Given the description of an element on the screen output the (x, y) to click on. 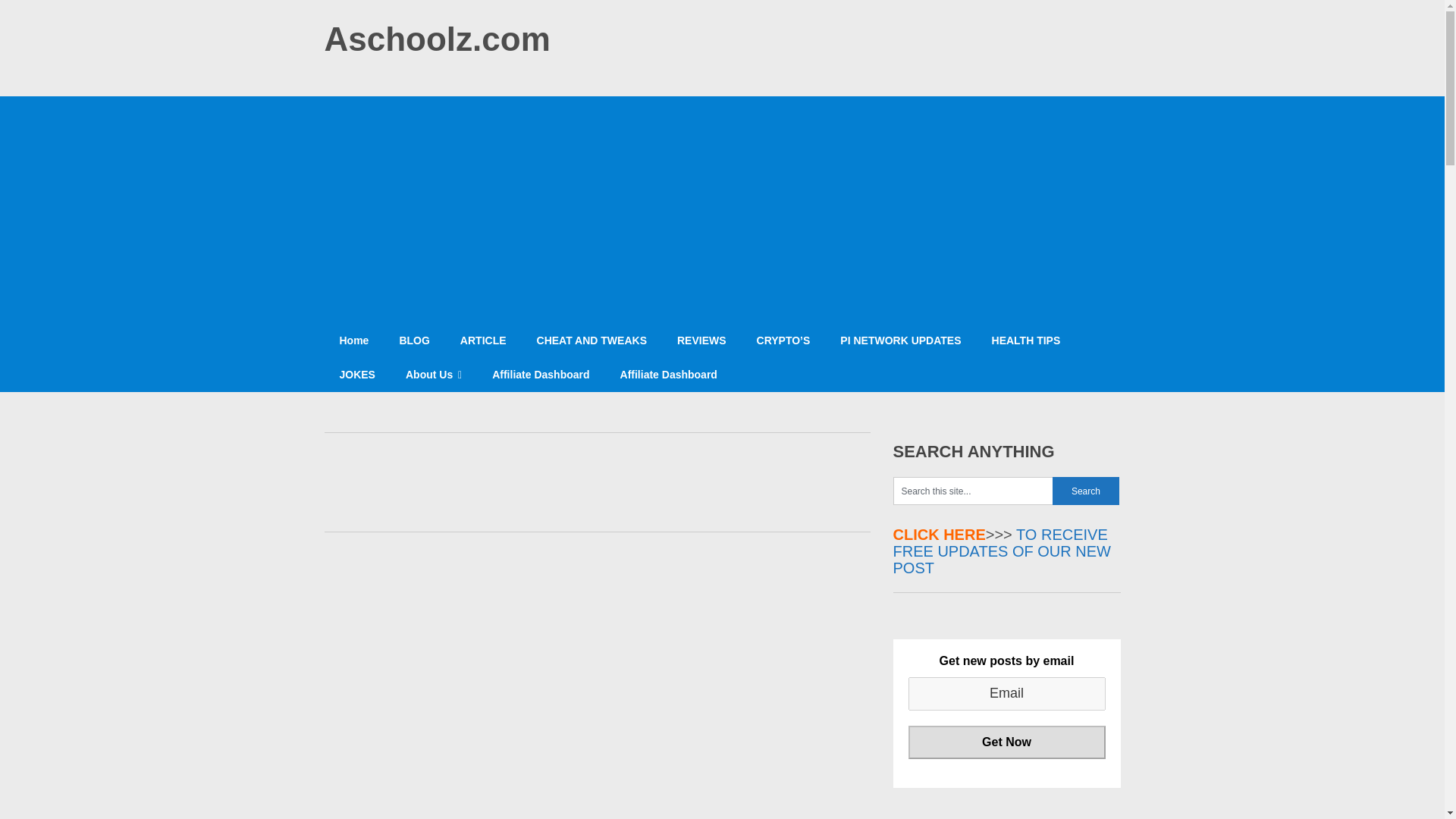
Aschoolz.com (437, 38)
PI NETWORK UPDATES (900, 340)
Aschoolz Home page (354, 340)
BLOG (414, 340)
Affiliate Dashboard (668, 374)
ARTICLE (483, 340)
About Us (433, 374)
HEALTH TIPS (1025, 340)
REVIEWS (701, 340)
JOKES (357, 374)
Affiliate Dashboard (540, 374)
Home (354, 340)
Search (1085, 490)
Search this site... (972, 490)
CHEAT AND TWEAKS (591, 340)
